Given the description of an element on the screen output the (x, y) to click on. 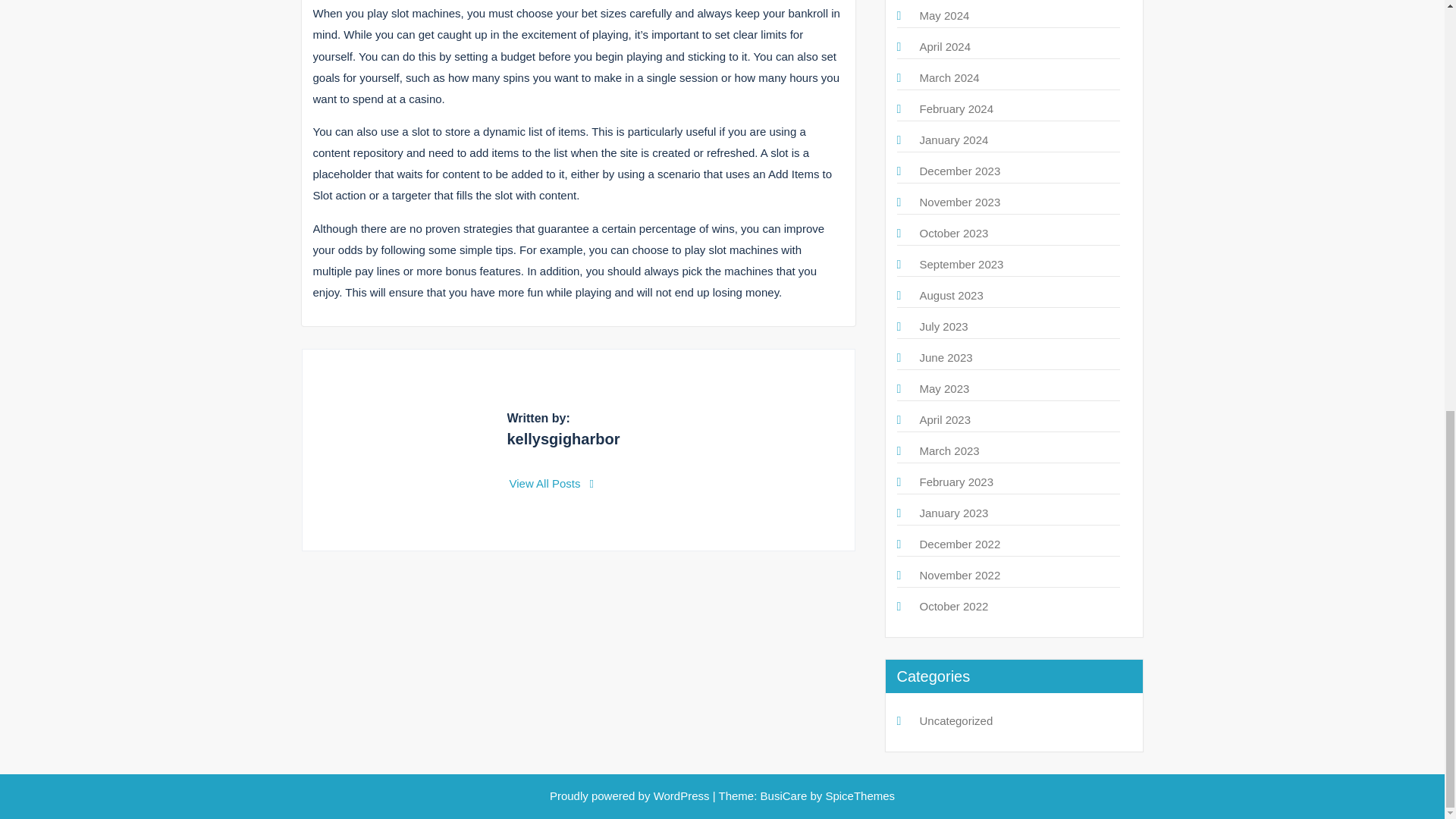
January 2023 (953, 512)
July 2023 (943, 326)
View All Posts (551, 482)
November 2022 (959, 574)
April 2024 (944, 46)
October 2023 (953, 232)
April 2023 (944, 419)
December 2022 (959, 543)
October 2022 (953, 605)
May 2024 (943, 15)
